Given the description of an element on the screen output the (x, y) to click on. 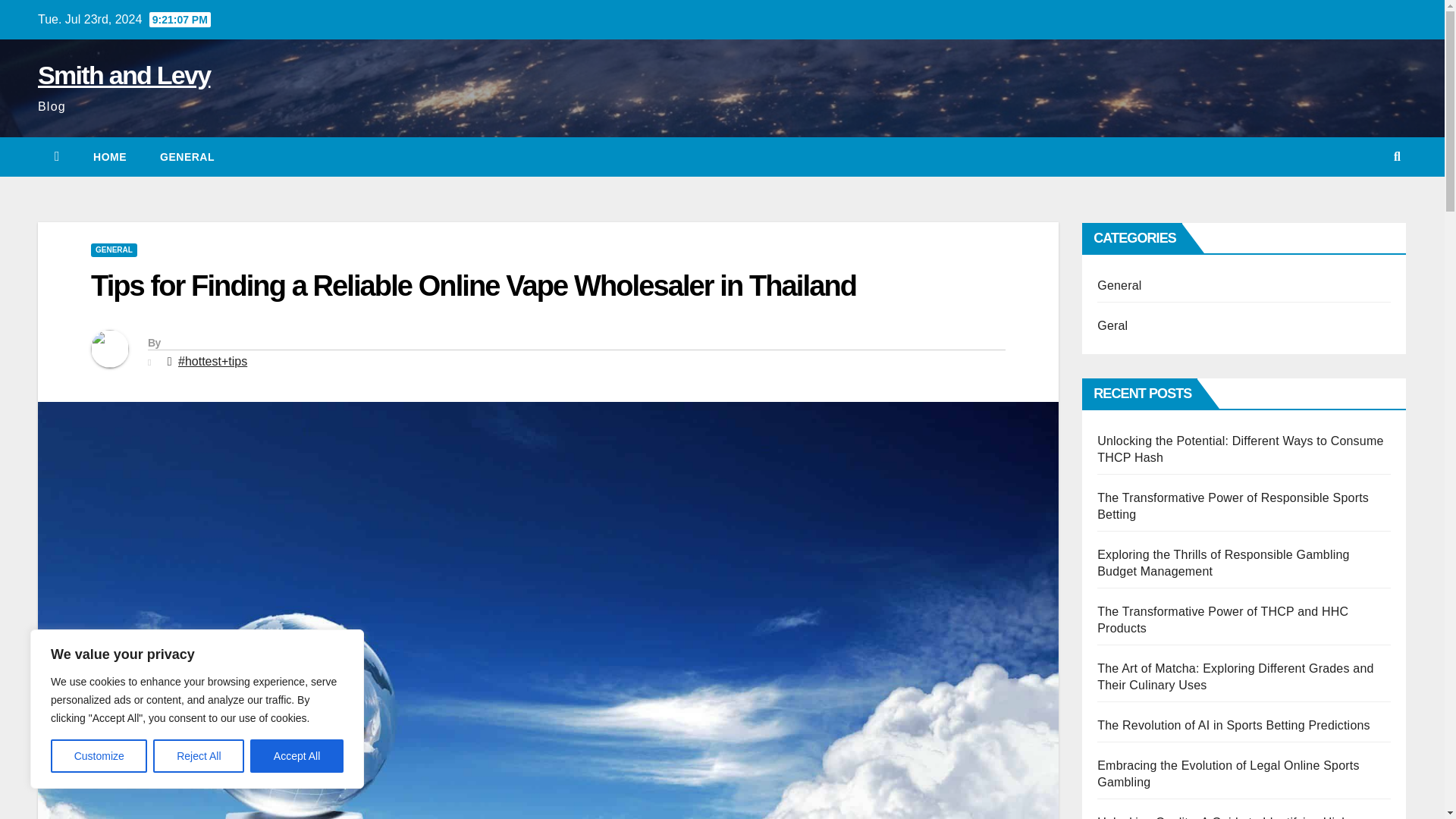
HOME (109, 156)
Accept All (296, 756)
Customize (98, 756)
Home (109, 156)
General (186, 156)
Smith and Levy (123, 74)
GENERAL (113, 250)
GENERAL (186, 156)
Reject All (198, 756)
